Given the description of an element on the screen output the (x, y) to click on. 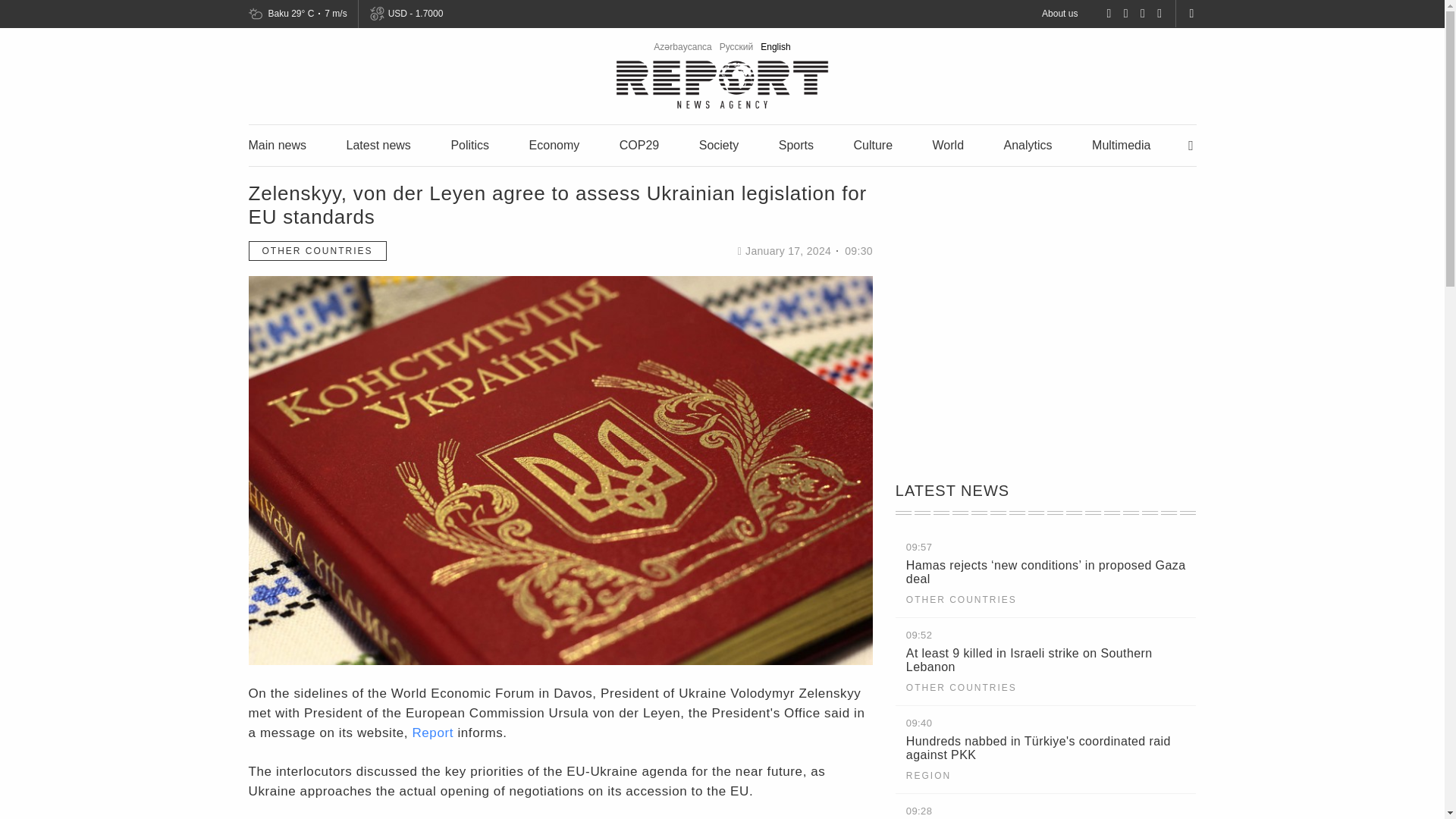
Culture (872, 144)
English (775, 46)
USD - 1.7000 (414, 13)
Politics (469, 144)
Main news (276, 144)
World (948, 144)
COP29 (639, 144)
Latest news (378, 144)
About us (1059, 13)
